Given the description of an element on the screen output the (x, y) to click on. 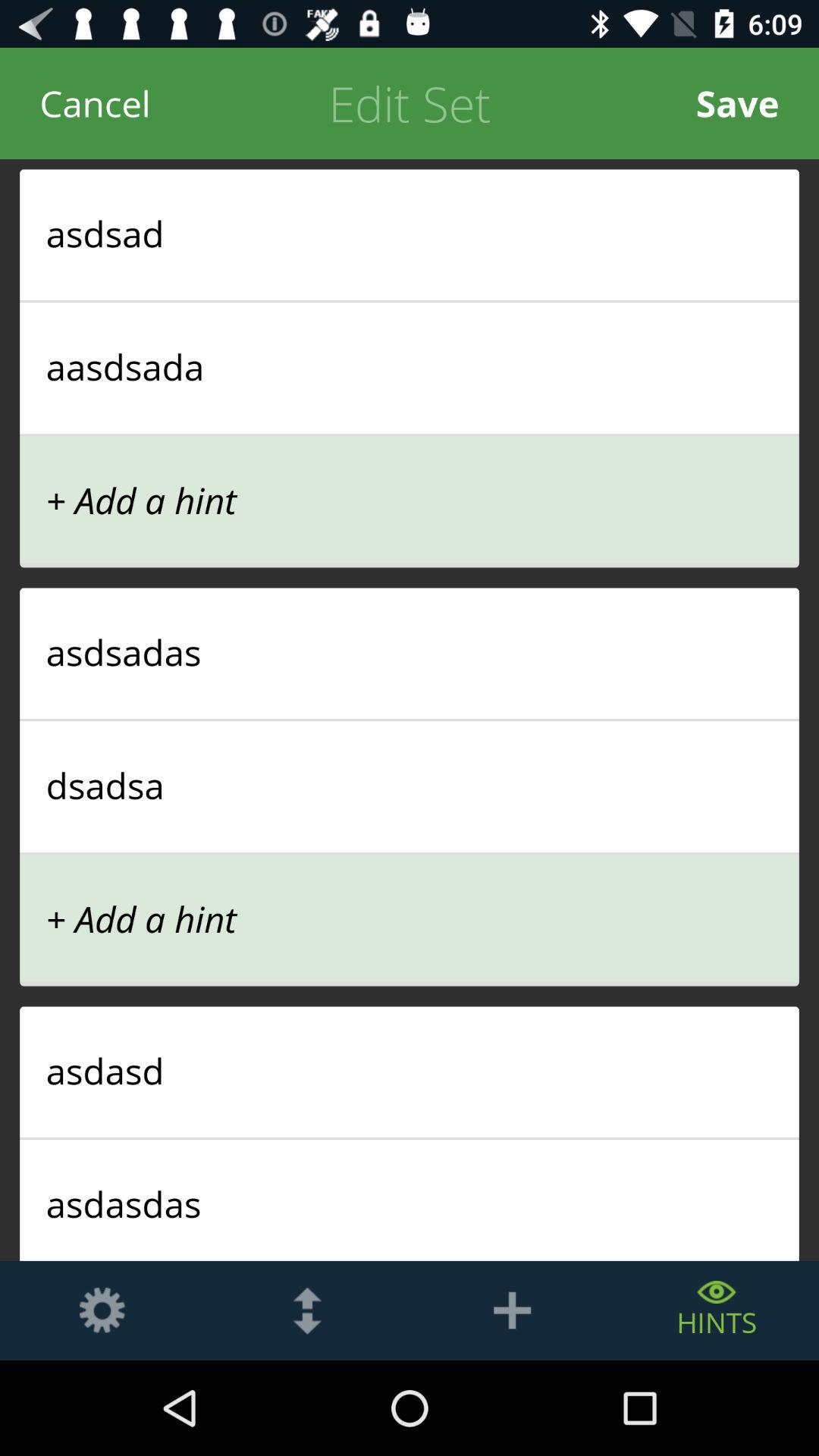
press asdsadas icon (409, 651)
